Given the description of an element on the screen output the (x, y) to click on. 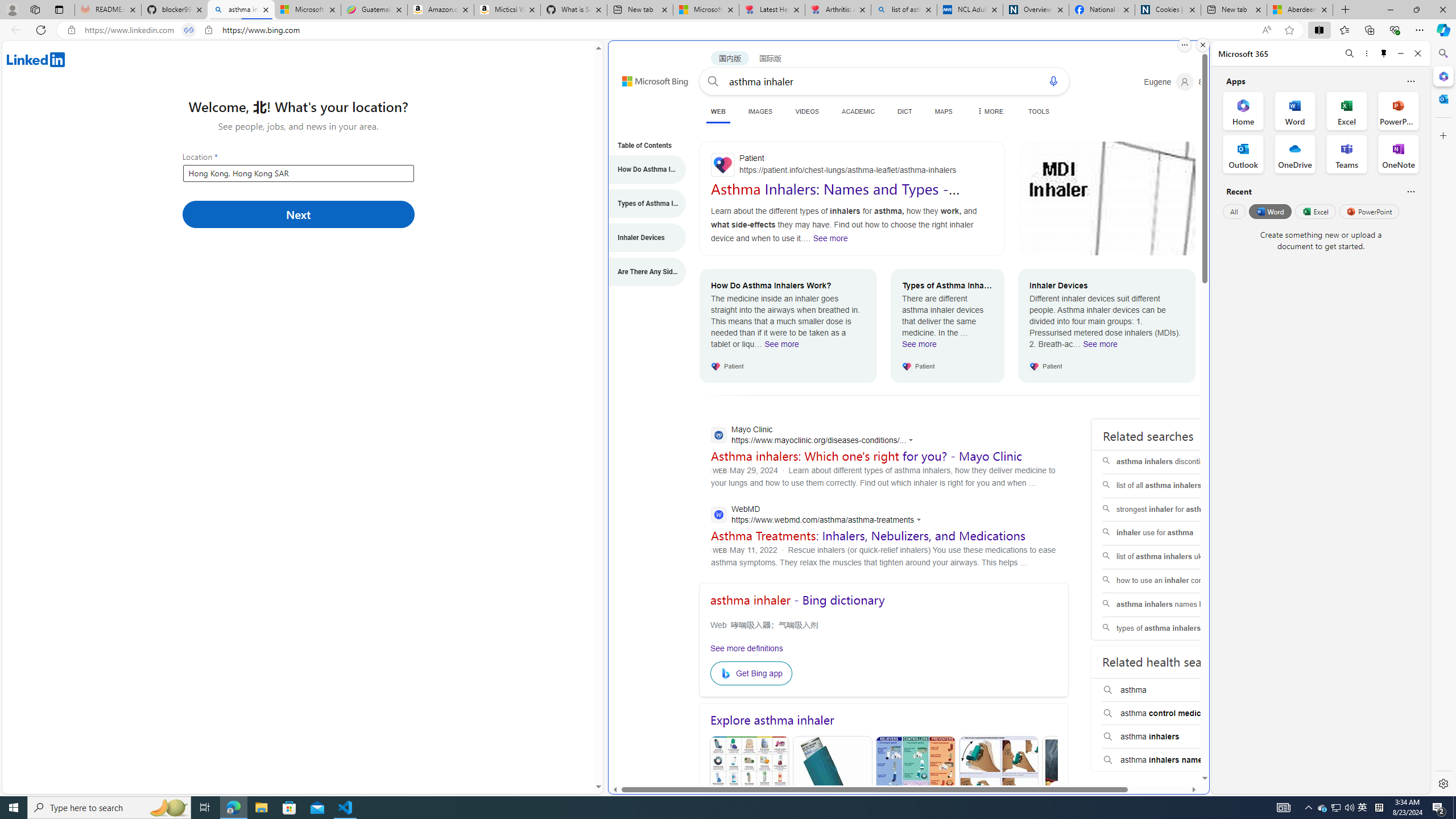
list of all asthma inhalers (1174, 485)
WEB (718, 112)
Outlook Office App (1243, 154)
DICT (904, 111)
asthma inhaler - Bing dictionary (797, 599)
More options. (1183, 45)
How Do Asthma Inhalers Work? (640, 169)
inhaler use for asthma (1174, 533)
